Given the description of an element on the screen output the (x, y) to click on. 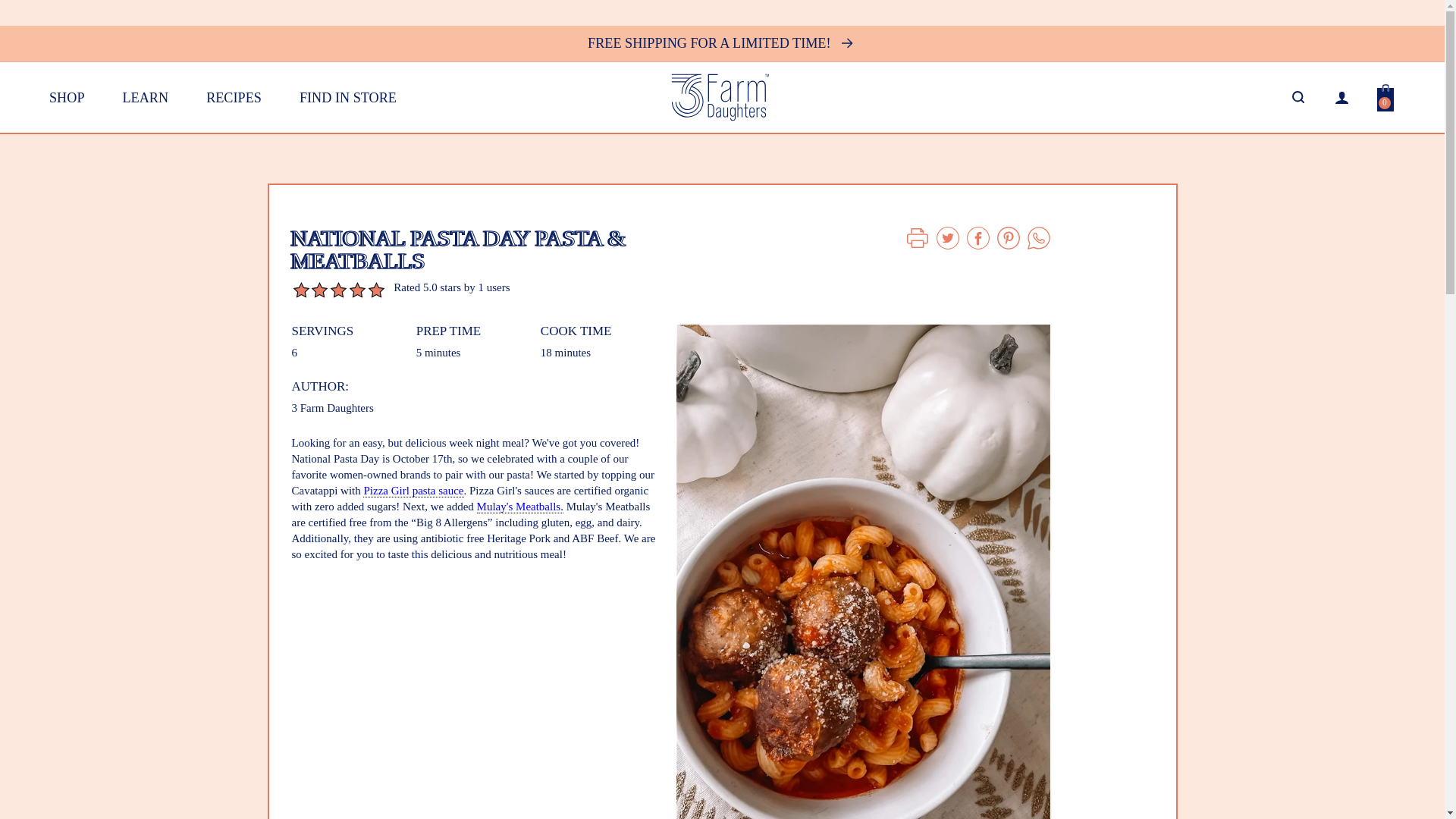
Log in (1341, 97)
RECIPES (1384, 97)
FIND IN STORE (234, 96)
SKIP TO CONTENT (347, 96)
